Given the description of an element on the screen output the (x, y) to click on. 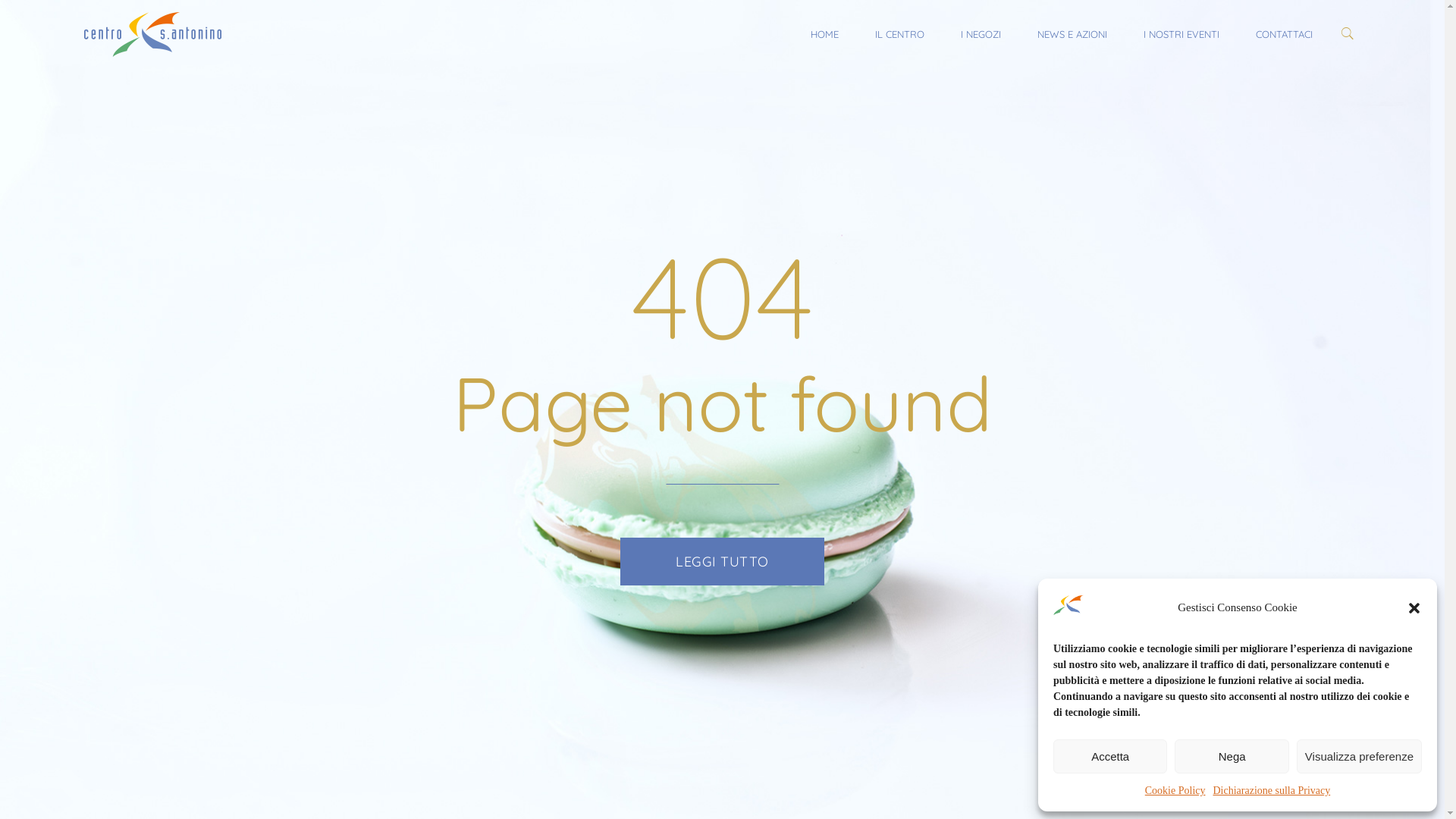
NEWS E AZIONI Element type: text (1072, 34)
Nega Element type: text (1231, 756)
HOME Element type: text (824, 34)
Accetta Element type: text (1110, 756)
I NOSTRI EVENTI Element type: text (1181, 34)
Cookie Policy Element type: text (1175, 790)
CONTATTACI Element type: text (1283, 34)
Dichiarazione sulla Privacy Element type: text (1271, 790)
Visualizza preferenze Element type: text (1358, 756)
I NEGOZI Element type: text (980, 34)
IL CENTRO Element type: text (899, 34)
LEGGI TUTTO Element type: text (722, 560)
